Given the description of an element on the screen output the (x, y) to click on. 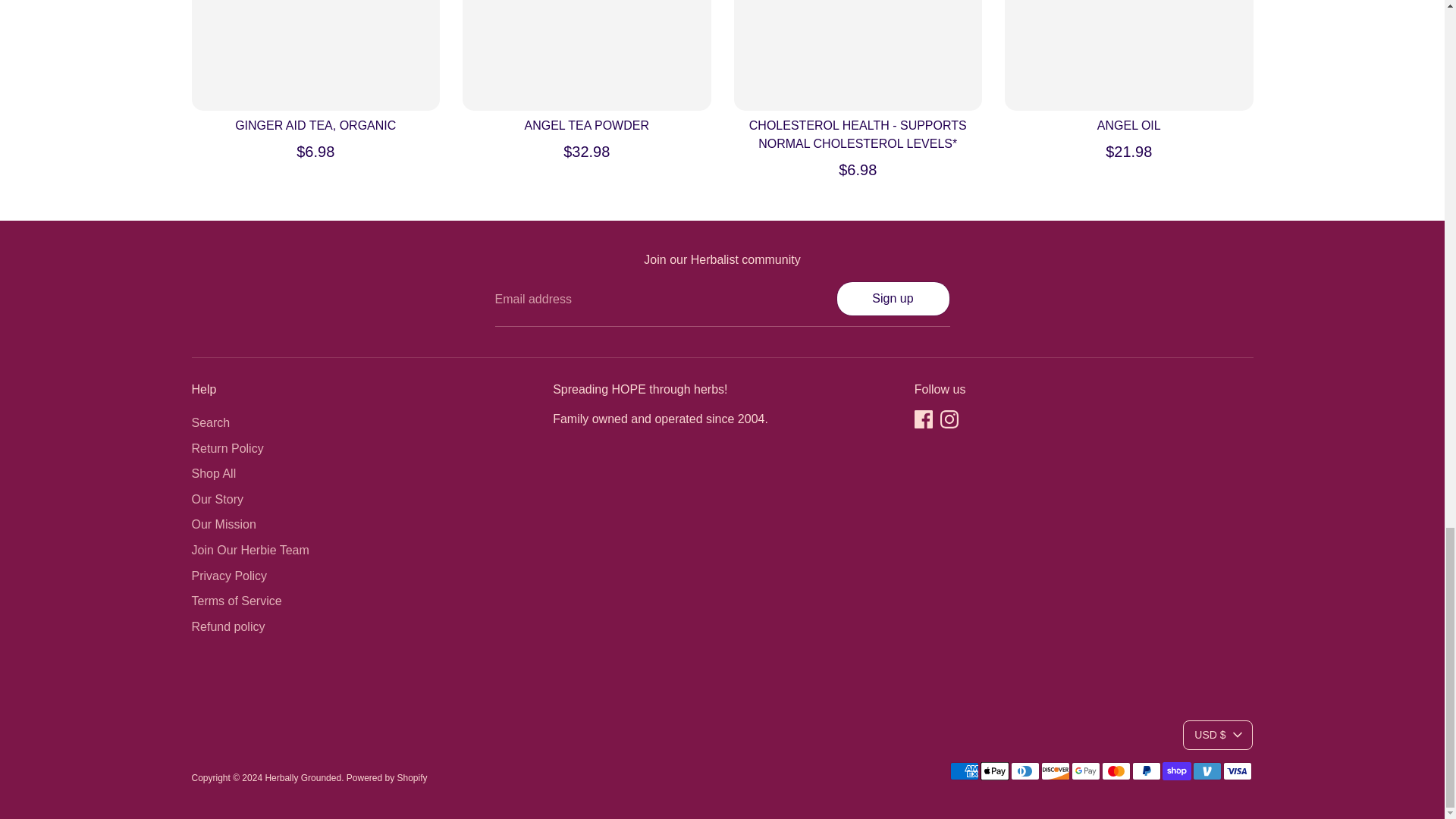
Apple Pay (994, 771)
Diners Club (1024, 771)
American Express (963, 771)
